Given the description of an element on the screen output the (x, y) to click on. 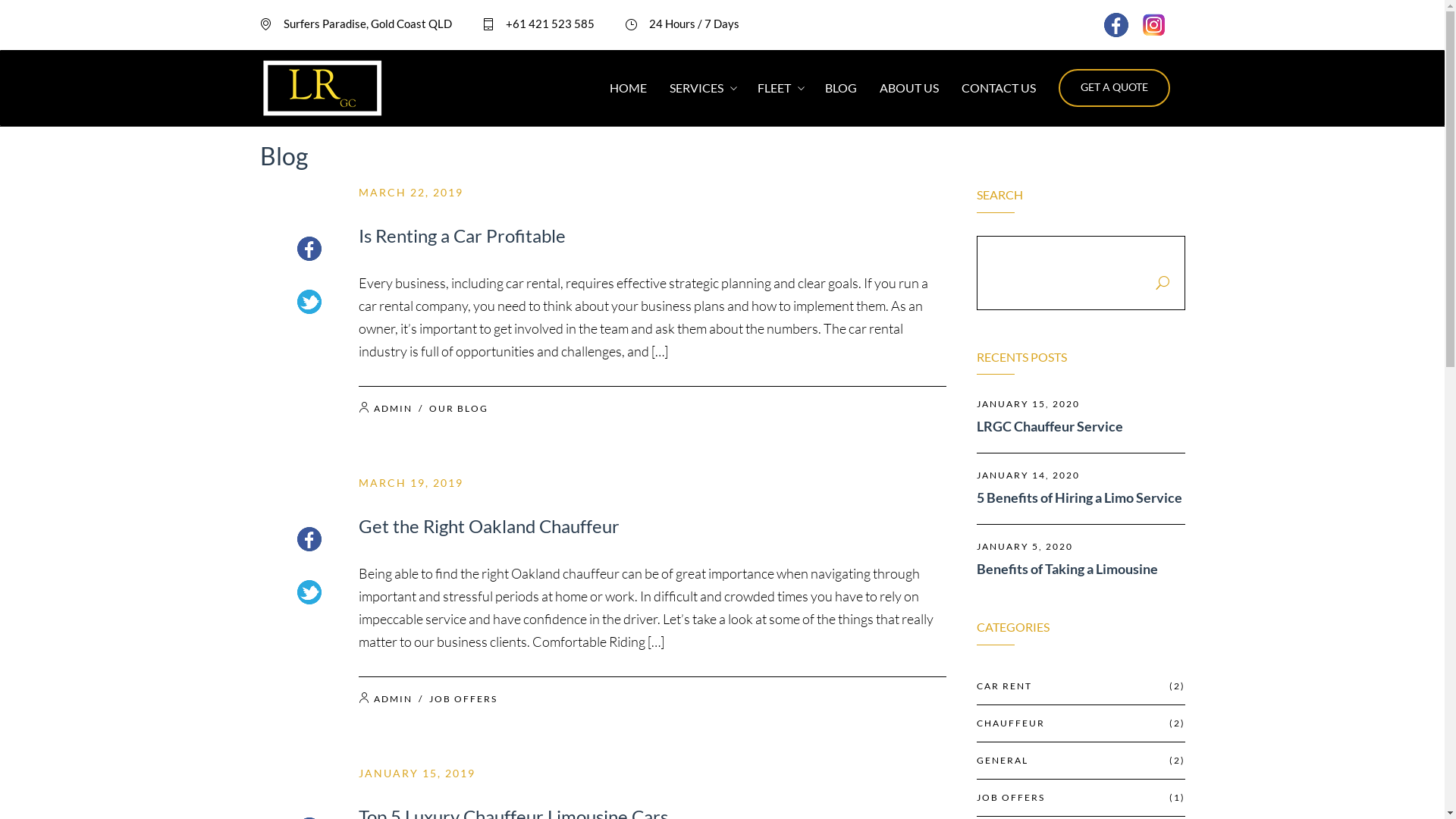
GENERAL
(2) Element type: text (1080, 760)
ADMIN Element type: text (392, 698)
CONTACT US Element type: text (998, 87)
HOME Element type: text (627, 87)
JOB OFFERS Element type: text (463, 698)
OUR BLOG Element type: text (458, 408)
MARCH 19, 2019 Element type: text (409, 482)
Luxury Ride GC Element type: hover (321, 87)
Facebook Element type: hover (308, 539)
Twitter Element type: hover (308, 592)
LRGC Chauffeur Service Element type: text (1080, 425)
JANUARY 15, 2019 Element type: text (415, 772)
Is Renting a Car Profitable Element type: text (460, 235)
Facebook Element type: hover (1116, 24)
Get the Right Oakland Chauffeur Element type: text (487, 525)
5 Benefits of Hiring a Limo Service Element type: text (1080, 497)
CHAUFFEUR
(2) Element type: text (1080, 723)
CAR RENT
(2) Element type: text (1080, 686)
ABOUT US Element type: text (908, 87)
FLEET Element type: text (773, 87)
Search Element type: text (103, 10)
JOB OFFERS
(1) Element type: text (1080, 797)
GET A QUOTE Element type: text (1114, 87)
SERVICES Element type: text (695, 87)
Instagram Element type: hover (1154, 24)
Twitter Element type: hover (308, 301)
MARCH 22, 2019 Element type: text (409, 191)
ADMIN Element type: text (392, 408)
Facebook Element type: hover (308, 248)
BLOG Element type: text (840, 87)
Benefits of Taking a Limousine Element type: text (1080, 568)
